Given the description of an element on the screen output the (x, y) to click on. 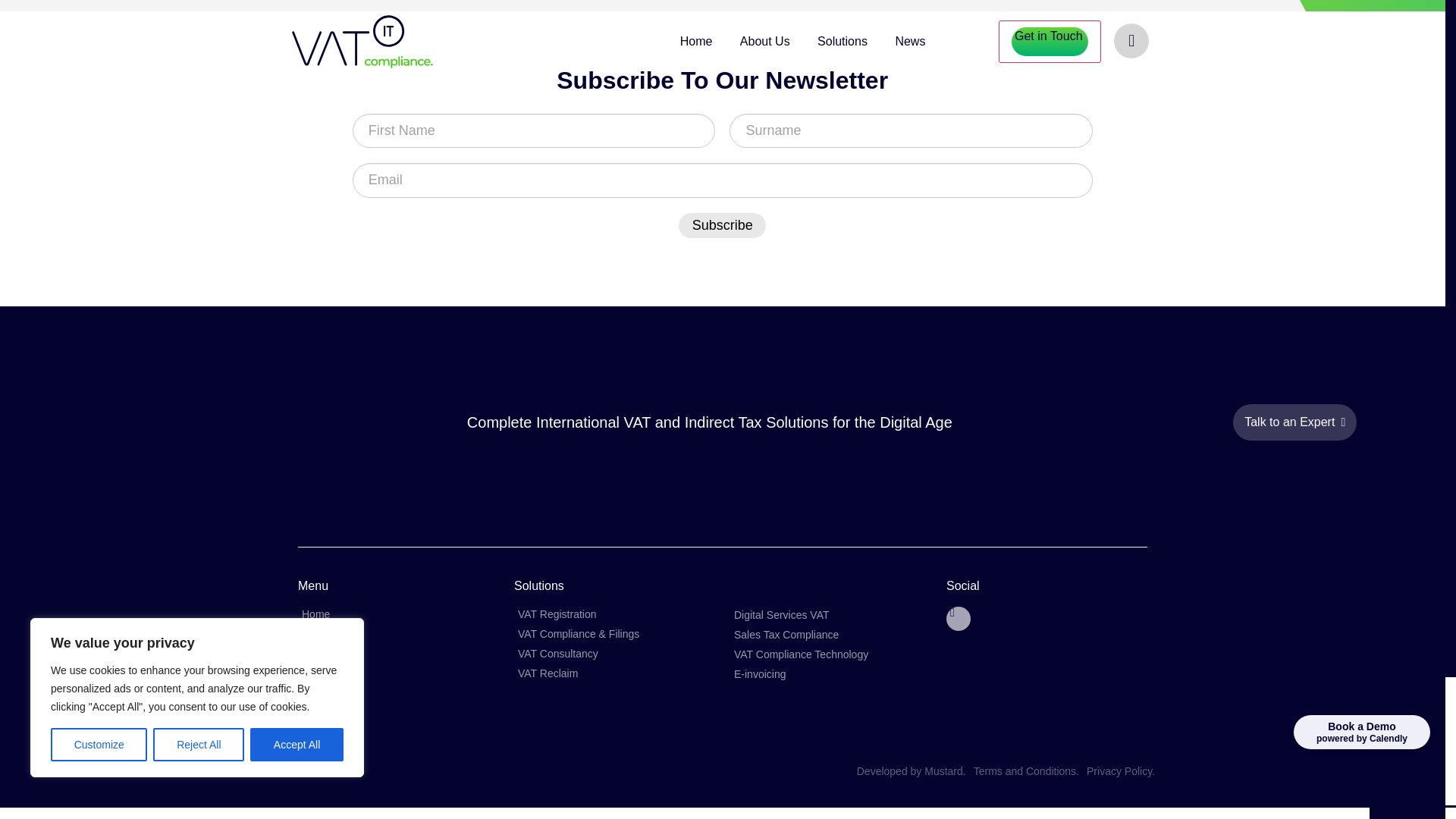
Subscribe (721, 225)
